Given the description of an element on the screen output the (x, y) to click on. 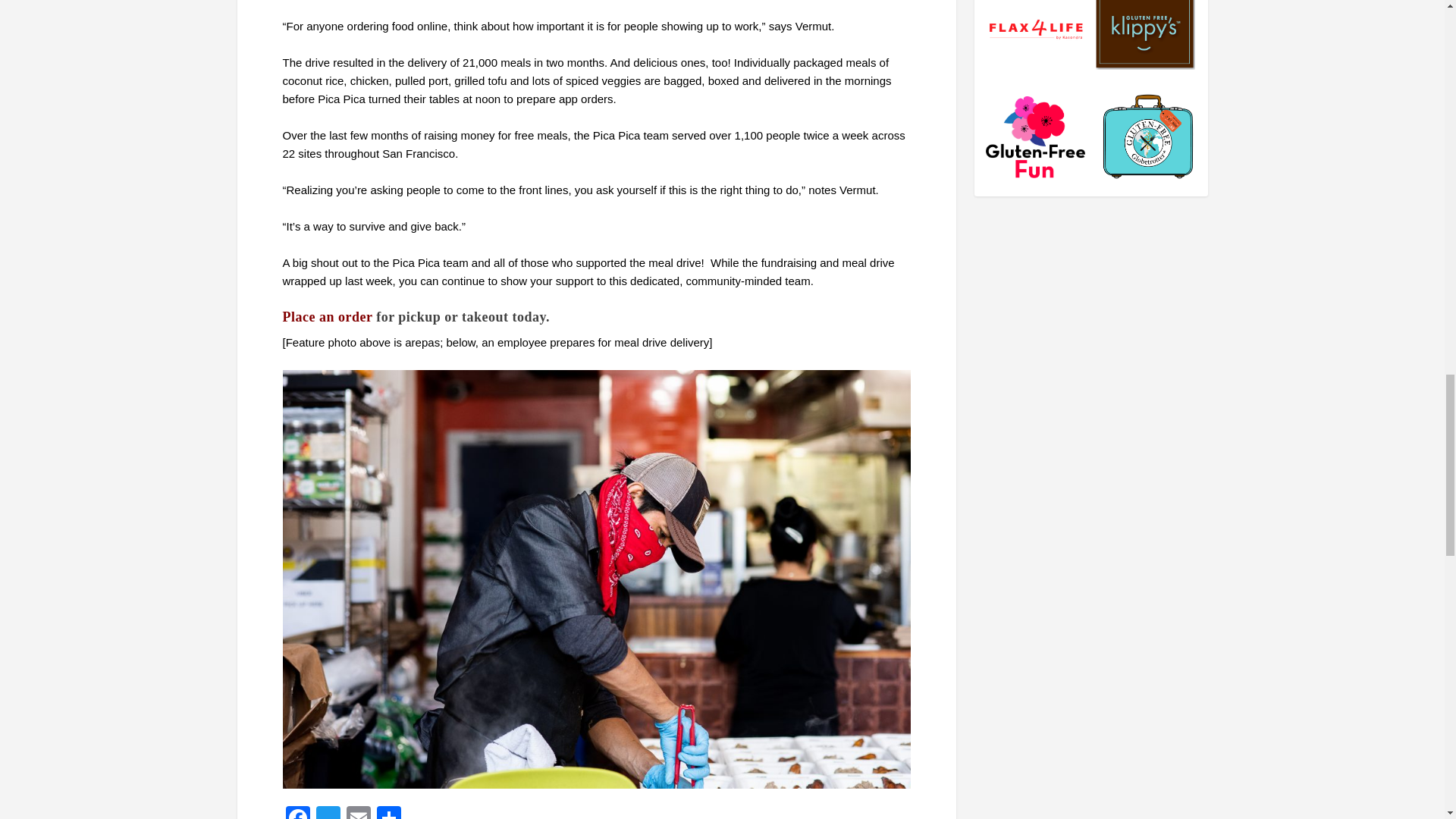
Twitter (327, 812)
Email (357, 812)
Facebook (297, 812)
